Given the description of an element on the screen output the (x, y) to click on. 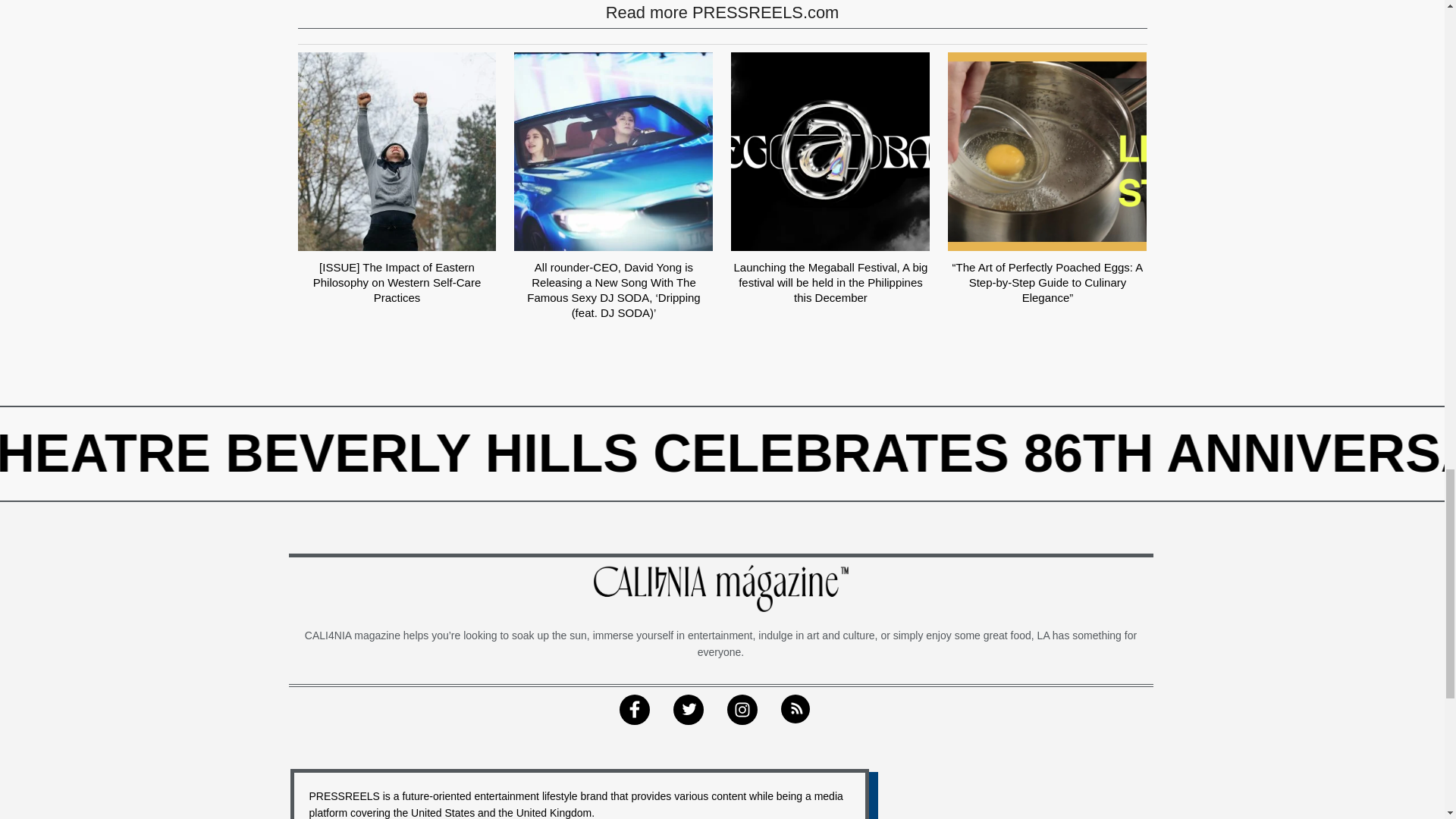
SINKHOLE UNLEASHES CONCRETE RAIN ON GLENDALE FREEWAY (687, 453)
